Given the description of an element on the screen output the (x, y) to click on. 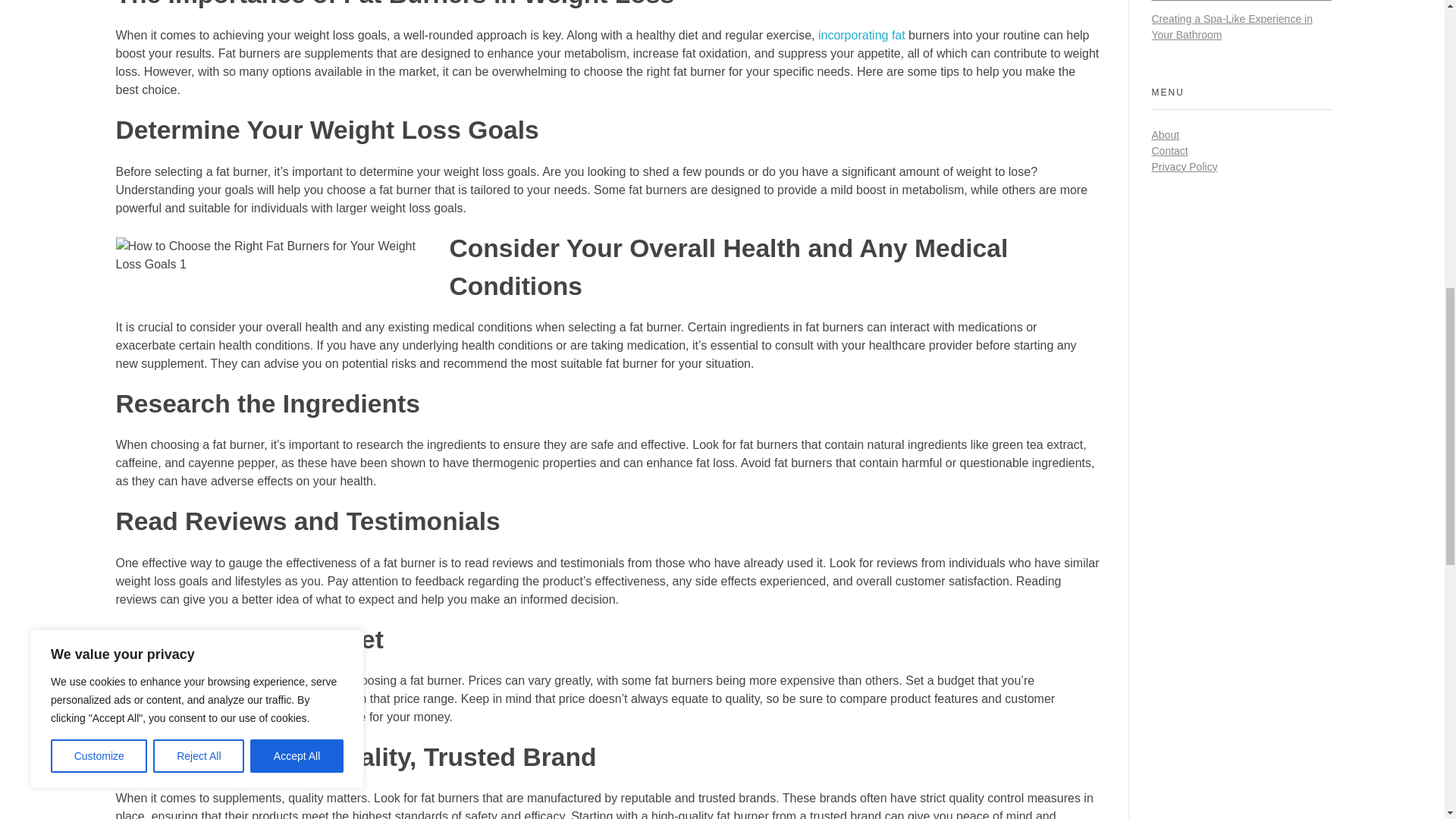
incorporating fat (861, 34)
